Given the description of an element on the screen output the (x, y) to click on. 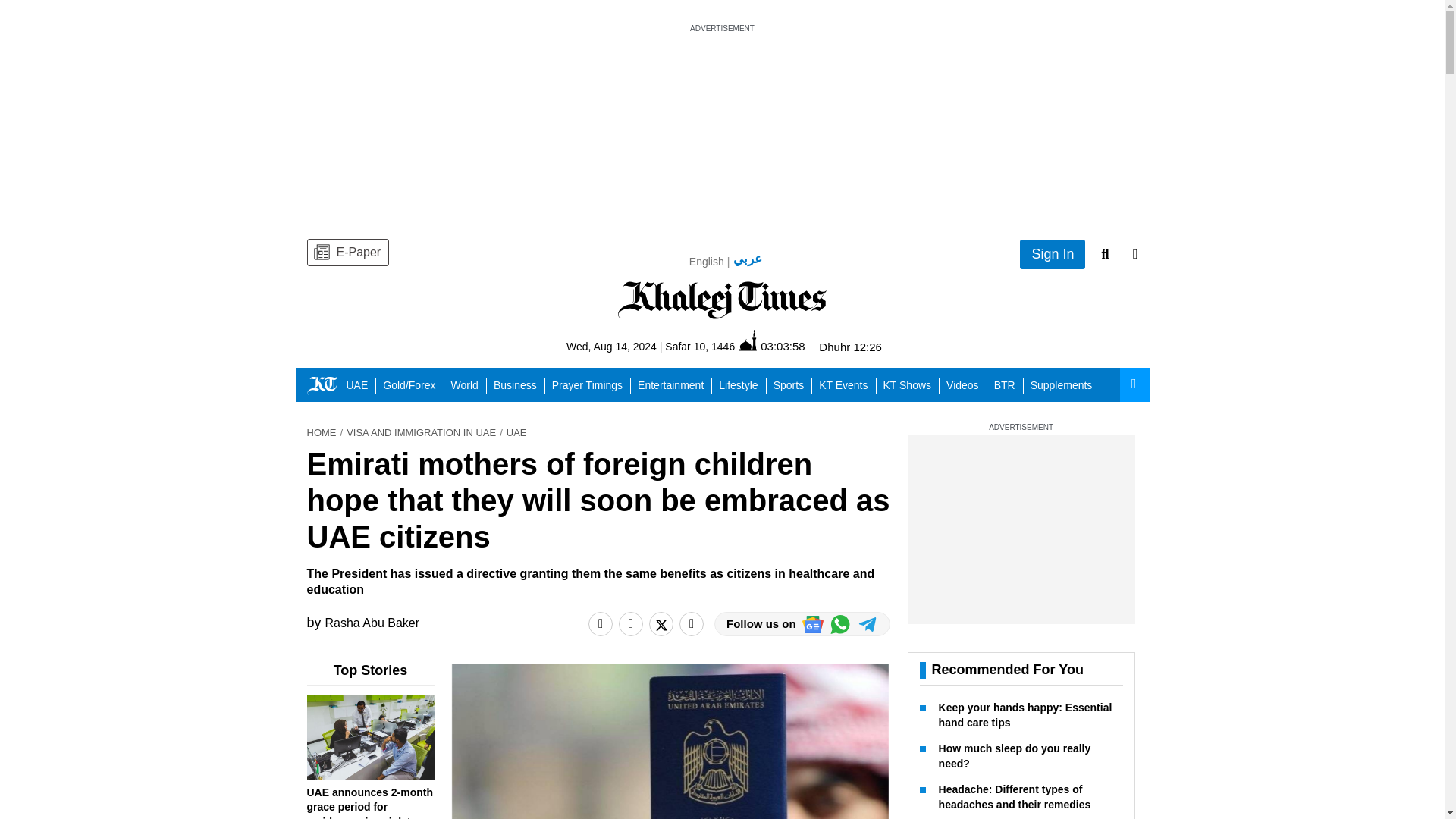
03:03:58 (771, 345)
Dhuhr 12:26 (850, 346)
E-Paper (346, 252)
Sign In (1052, 254)
